Given the description of an element on the screen output the (x, y) to click on. 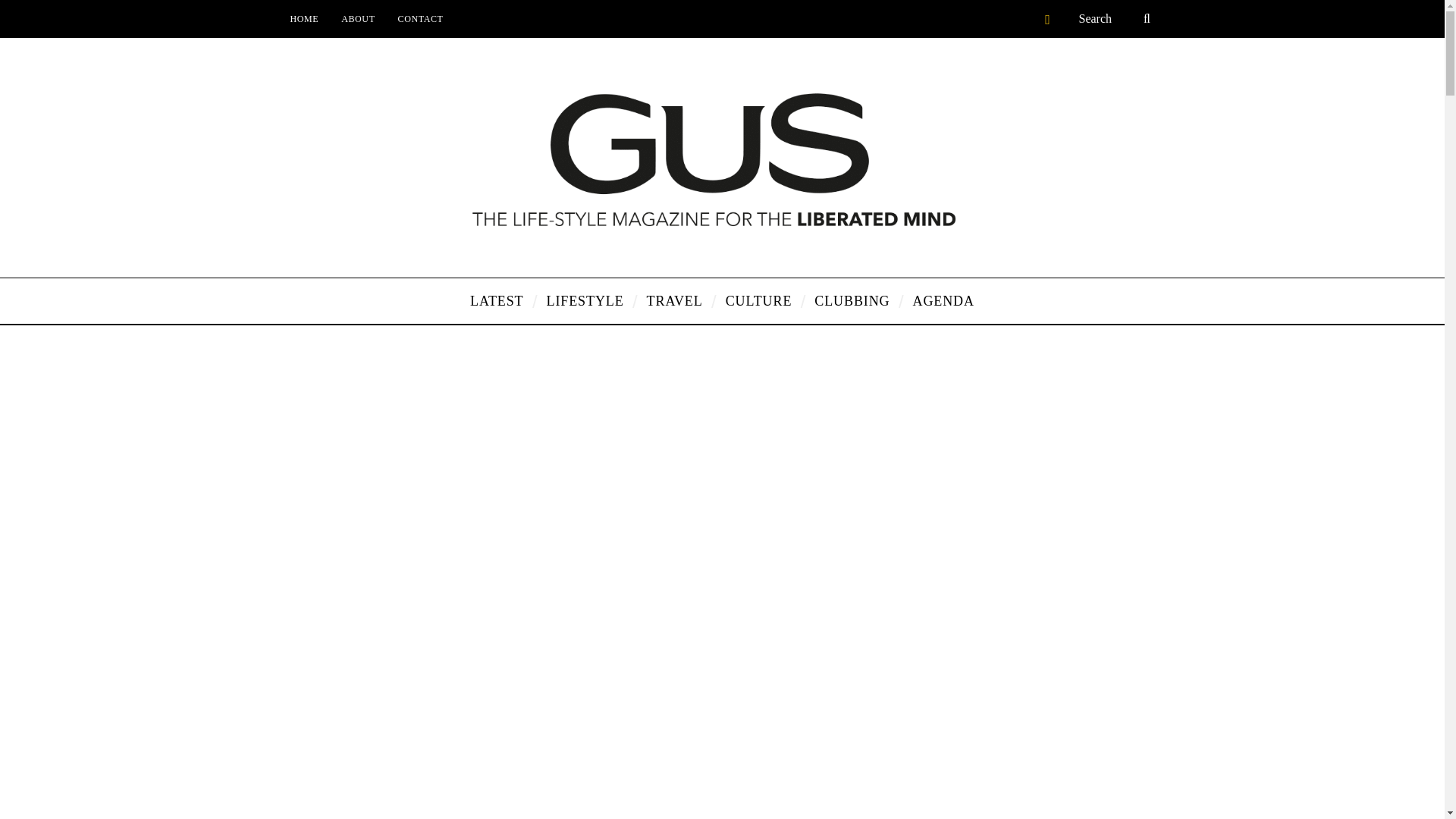
Search (1116, 18)
CULTURE (758, 300)
HOME (304, 18)
ABOUT (357, 18)
CONTACT (420, 18)
TRAVEL (674, 300)
